Given the description of an element on the screen output the (x, y) to click on. 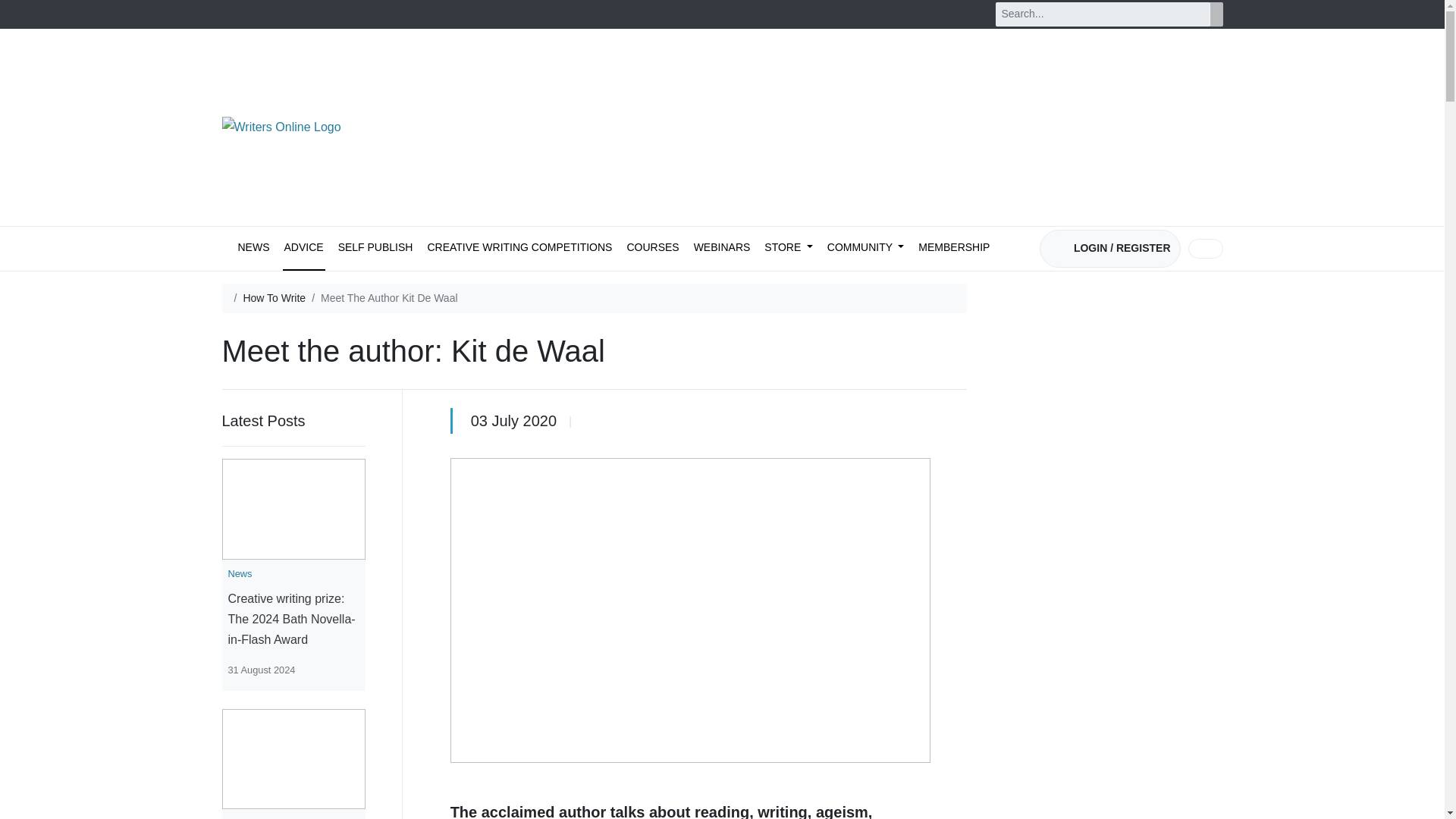
COMMUNITY (865, 248)
How To Write (274, 298)
CREATIVE WRITING COMPETITIONS (518, 248)
WEBINARS (722, 248)
SELF PUBLISH (375, 248)
Creative writing prize: The 2024 Bath Novella-in-Flash Award (292, 619)
ADVICE (303, 248)
MEMBERSHIP (954, 248)
STORE (787, 248)
COURSES (651, 248)
